Given the description of an element on the screen output the (x, y) to click on. 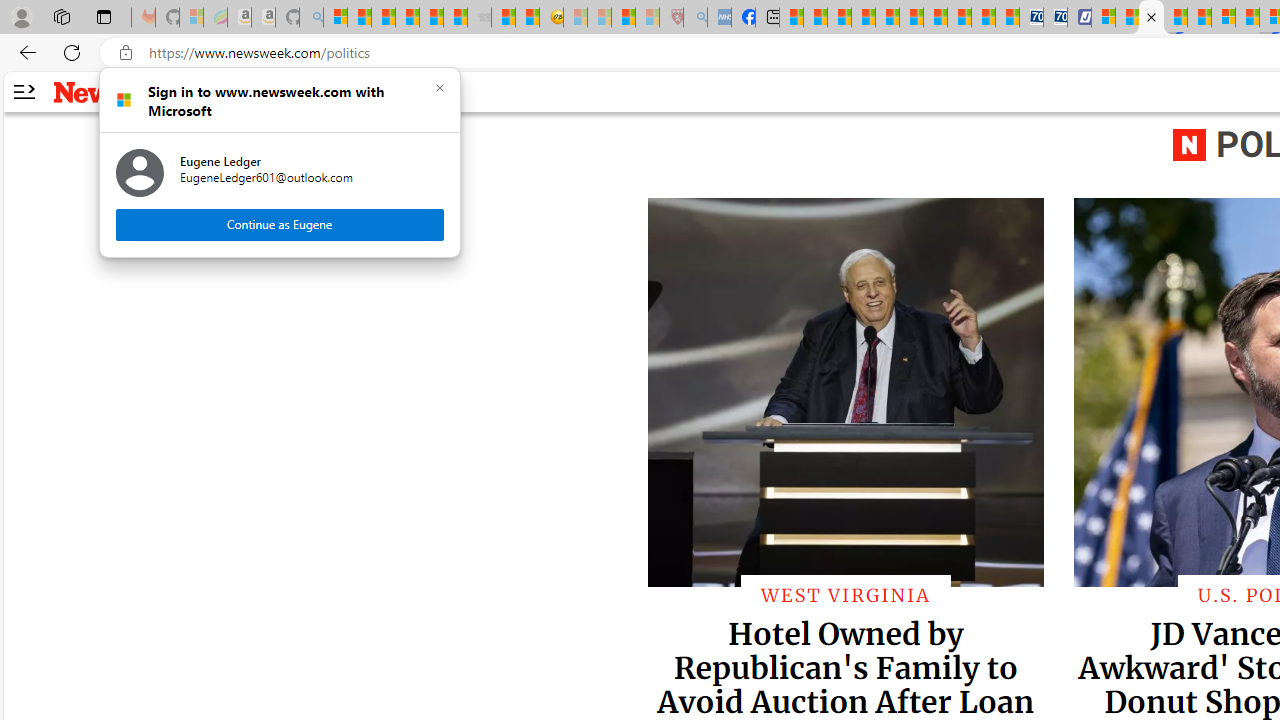
Latest Politics News & Archive | Newsweek.com (1151, 17)
Cheap Hotels - Save70.com (1055, 17)
Combat Siege - Sleeping (479, 17)
